Given the description of an element on the screen output the (x, y) to click on. 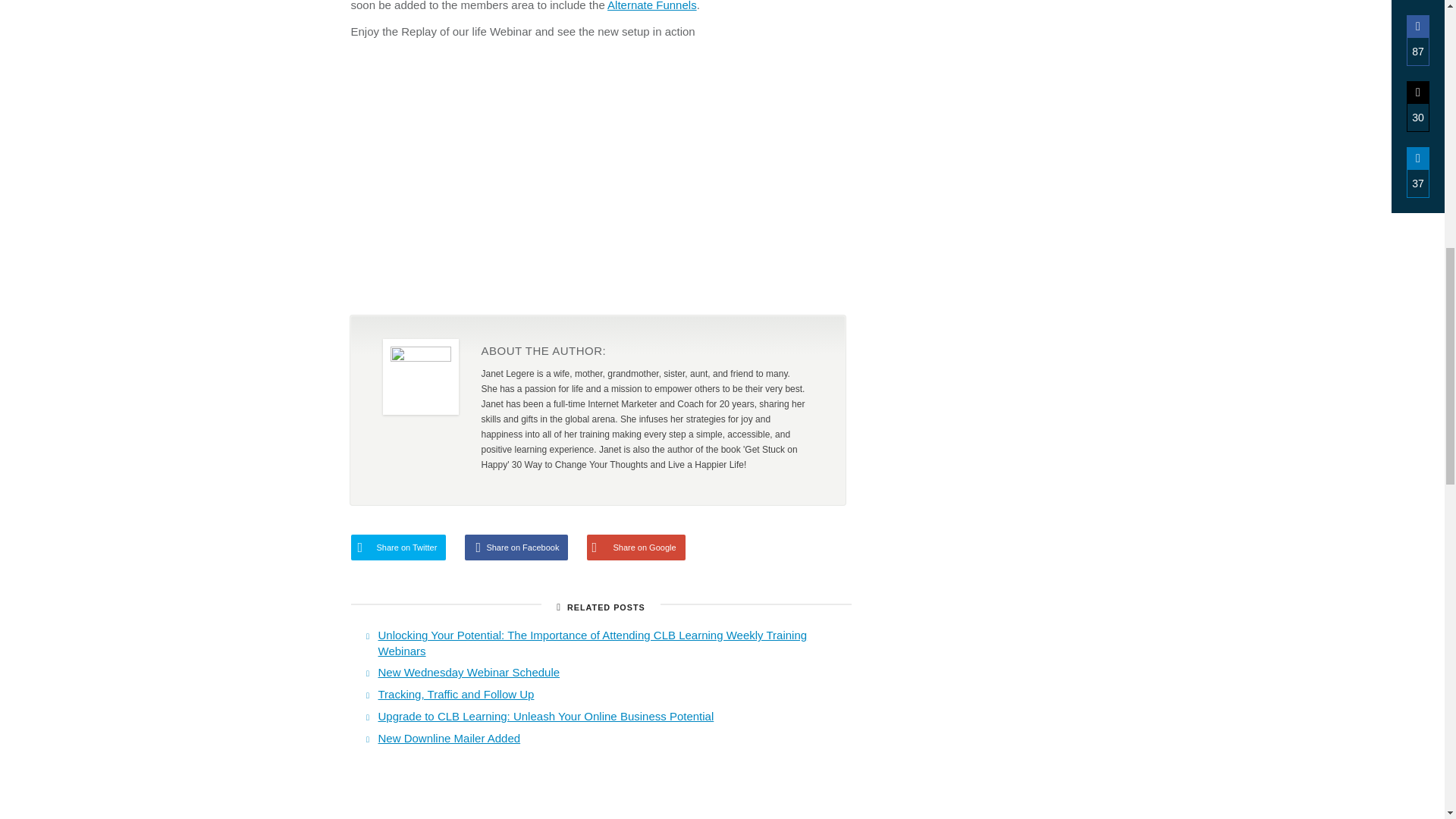
Share on Twitter (397, 547)
Share on Google (635, 547)
New Downline Mailer Added (448, 738)
New Wednesday Webinar Schedule (468, 671)
Tracking, Traffic and Follow Up (455, 694)
Tracking, Traffic and Follow Up (455, 694)
New Wednesday Webinar Schedule (468, 671)
New Downline Mailer Added (448, 738)
Share on Facebook (515, 547)
Alternate Funnels (652, 5)
